Given the description of an element on the screen output the (x, y) to click on. 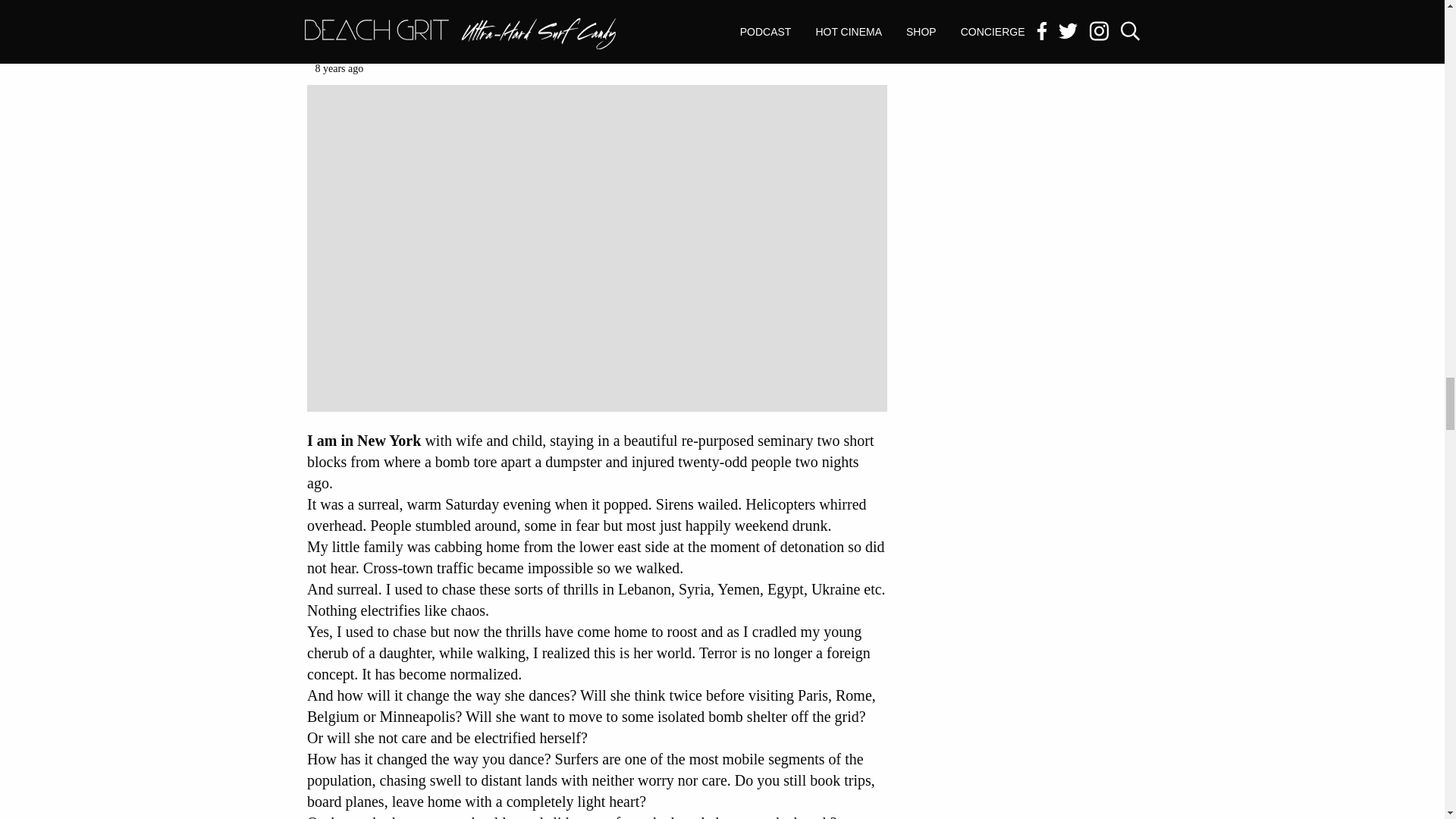
Chas Smith (346, 50)
